Given the description of an element on the screen output the (x, y) to click on. 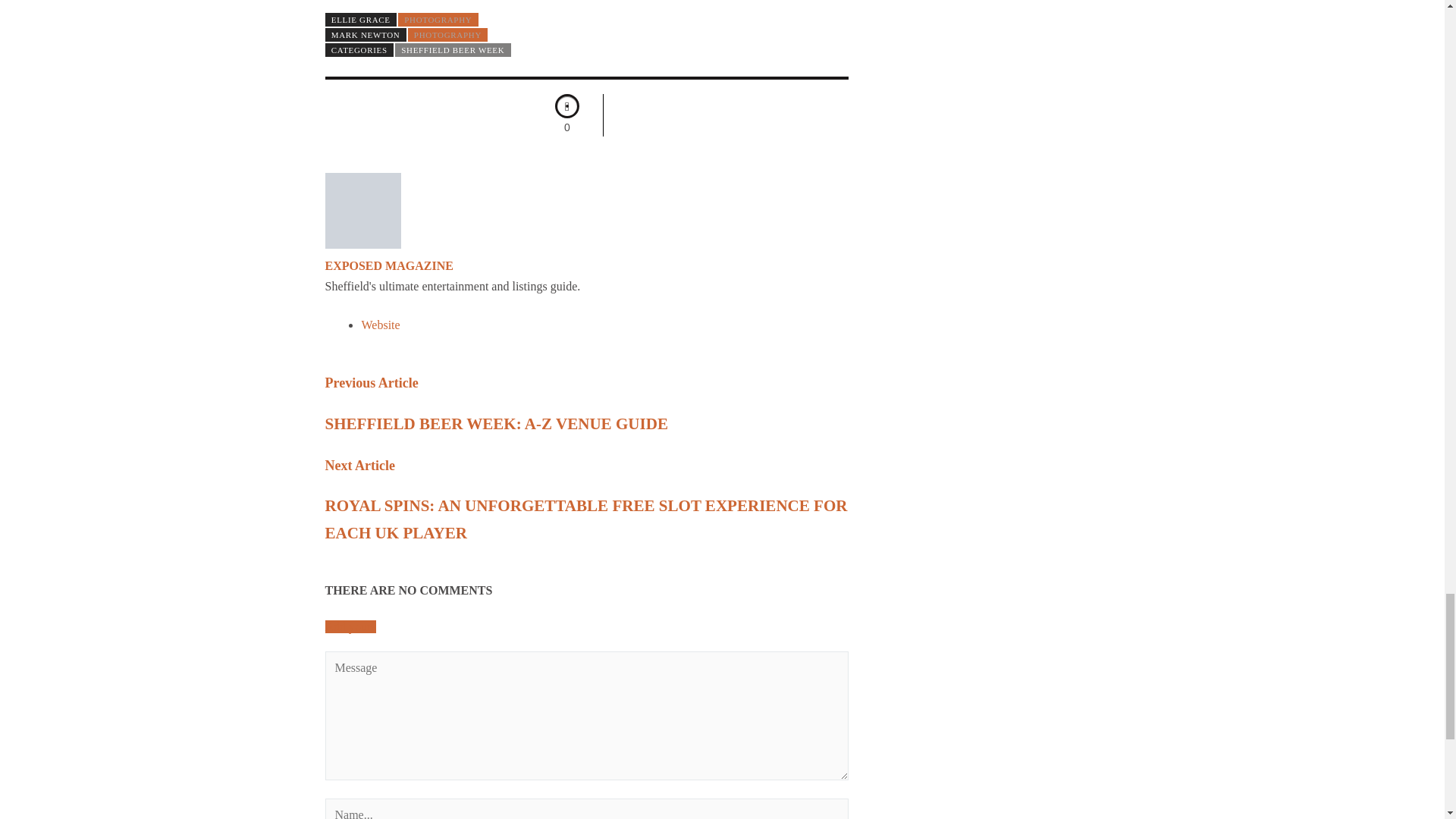
View all posts in Sheffield Beer Week (452, 49)
Posts by Exposed Magazine (388, 265)
